Given the description of an element on the screen output the (x, y) to click on. 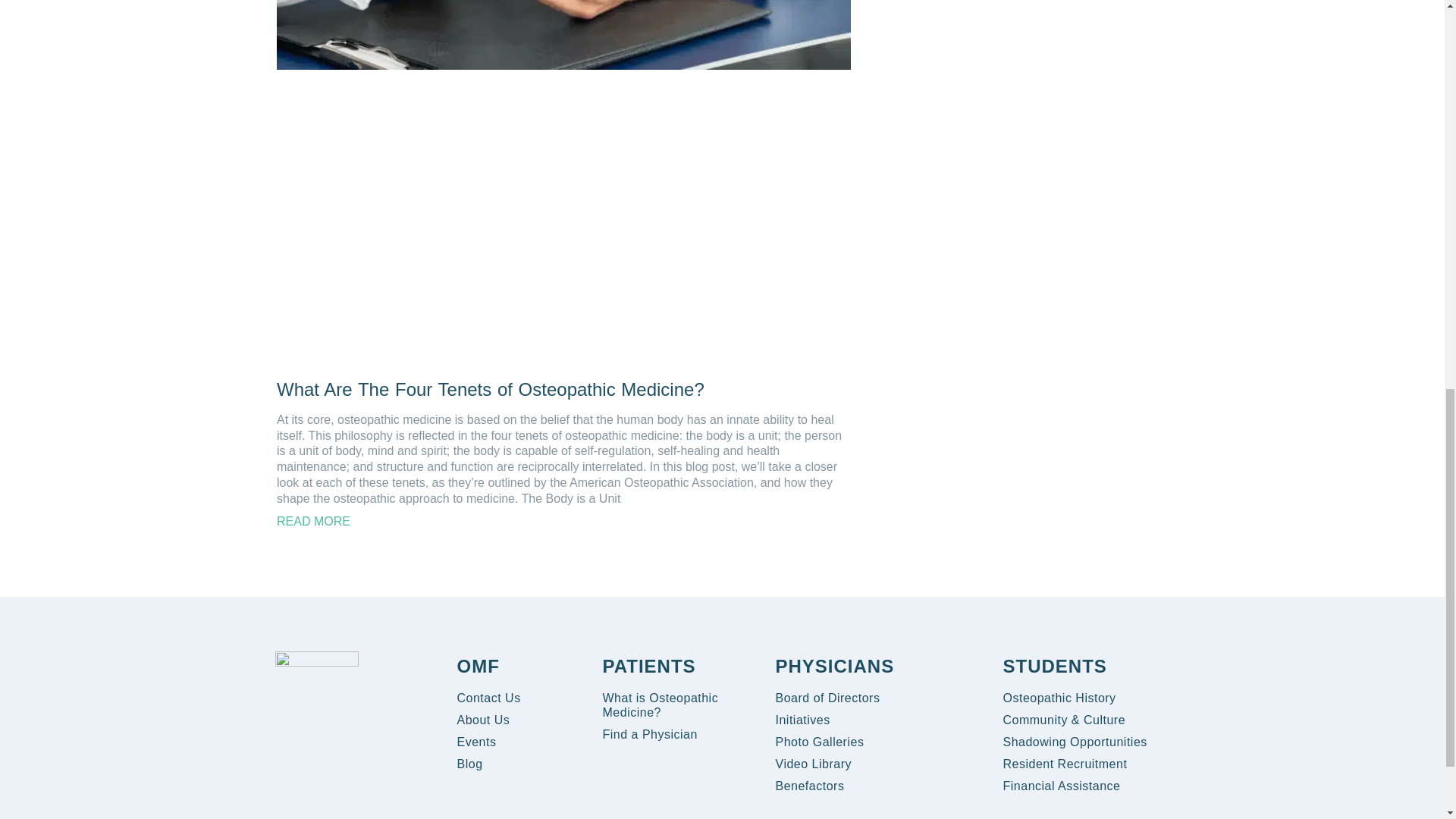
Contact Us (488, 698)
OMF (478, 666)
About Us (483, 719)
PATIENTS (648, 666)
Osteopathic History (1059, 698)
STUDENTS (1054, 666)
What Are The Four Tenets of Osteopathic Medicine? (490, 389)
Resident Recruitment (1064, 763)
Shadowing Opportunities (1075, 741)
Board of Directors (826, 698)
